Given the description of an element on the screen output the (x, y) to click on. 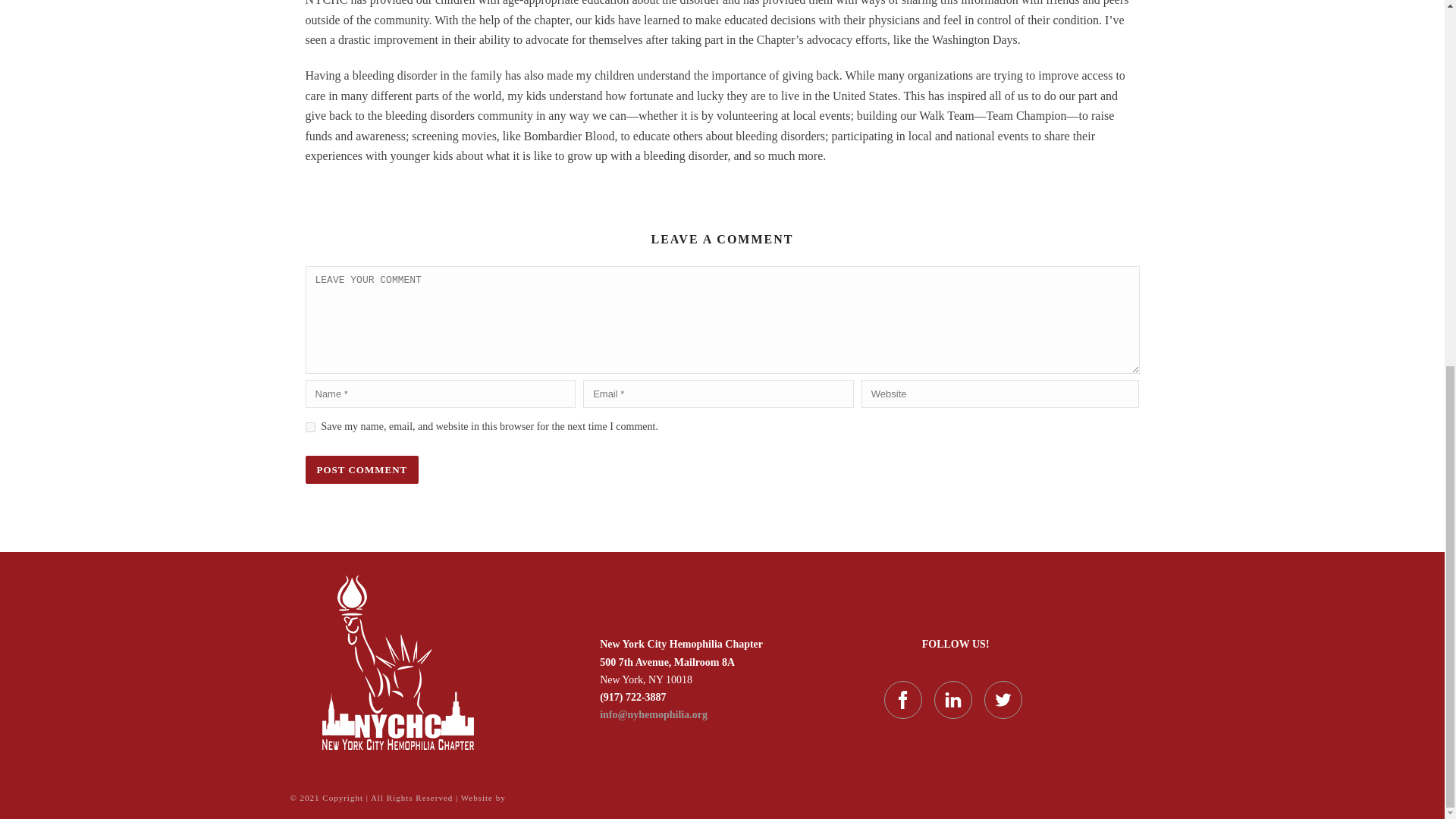
POST COMMENT (361, 469)
yes (309, 427)
